Given the description of an element on the screen output the (x, y) to click on. 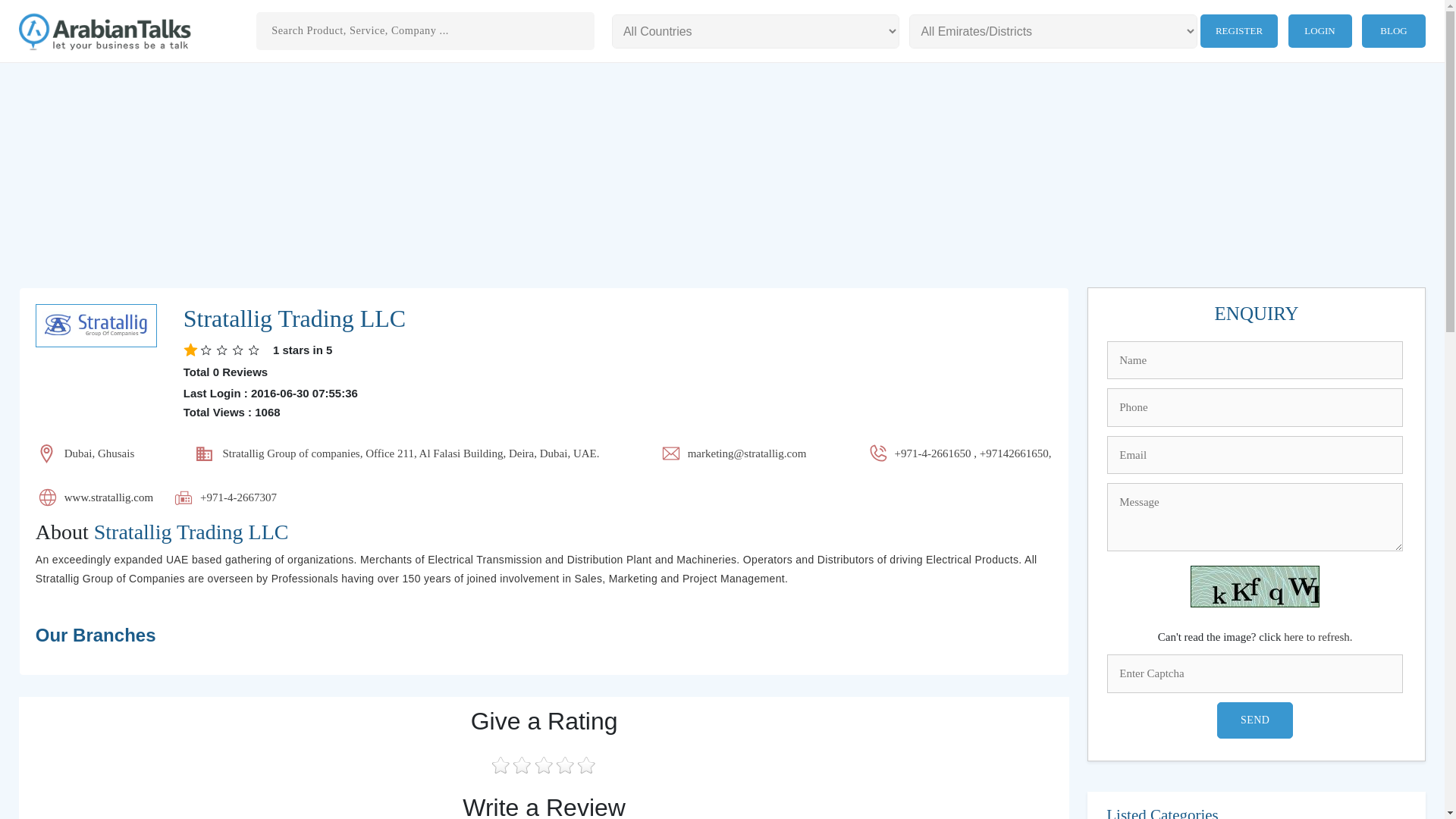
Website of Stratallig Trading LLC (108, 497)
Email of Stratallig Trading LLC (746, 453)
Sent enquiry to Stratallig Trading LLC (1256, 313)
SEND (1254, 719)
REGISTER (1238, 30)
 UAE Business Blog (1393, 30)
Phone of Stratallig Trading LLC (973, 453)
login to UAE Business directory (1320, 30)
here to refresh. (1318, 636)
Stratallig Trading LLC ,Dubai ,Ghusais (294, 317)
